Given the description of an element on the screen output the (x, y) to click on. 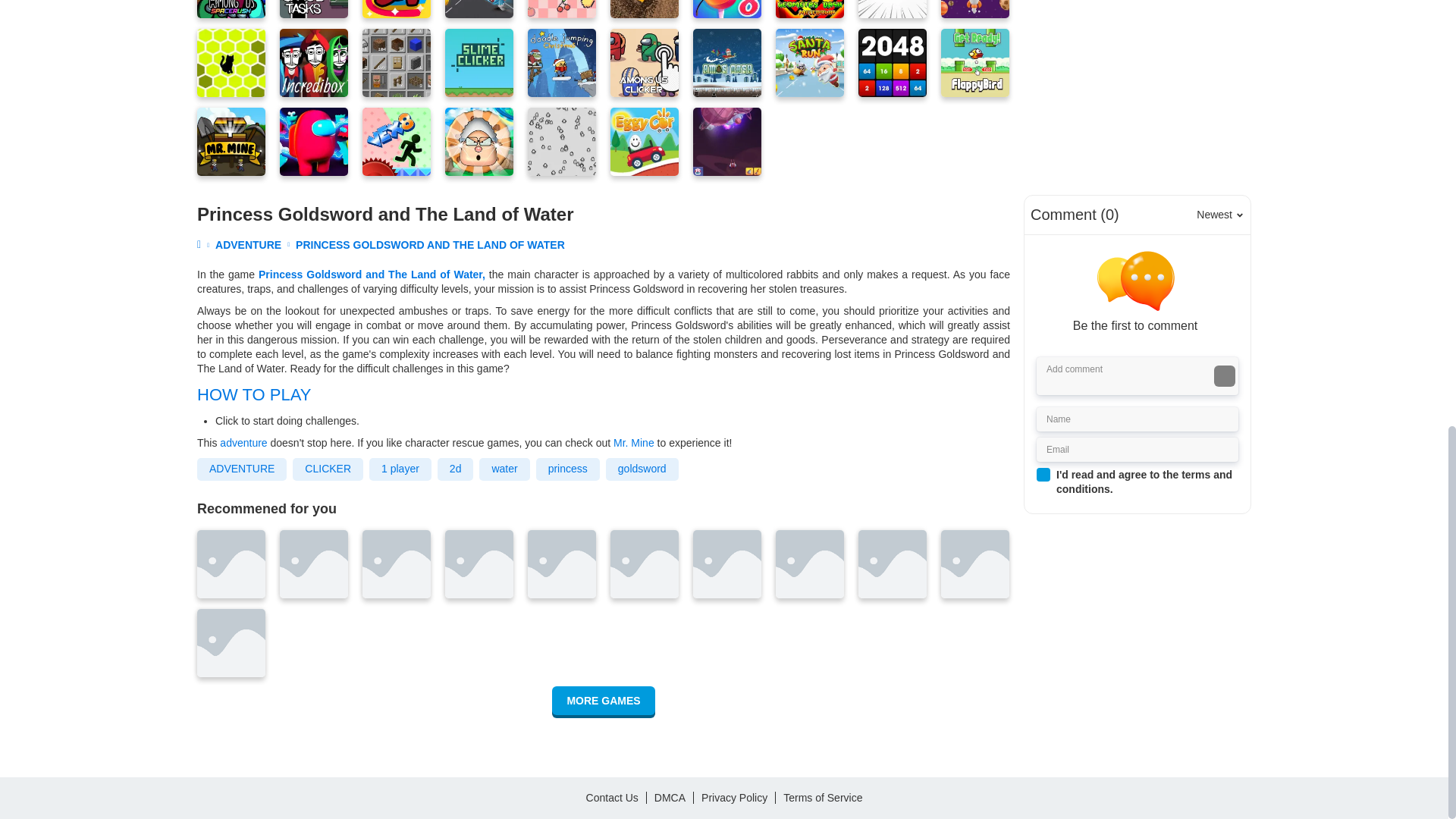
Be the first to comment (1141, 292)
